Given the description of an element on the screen output the (x, y) to click on. 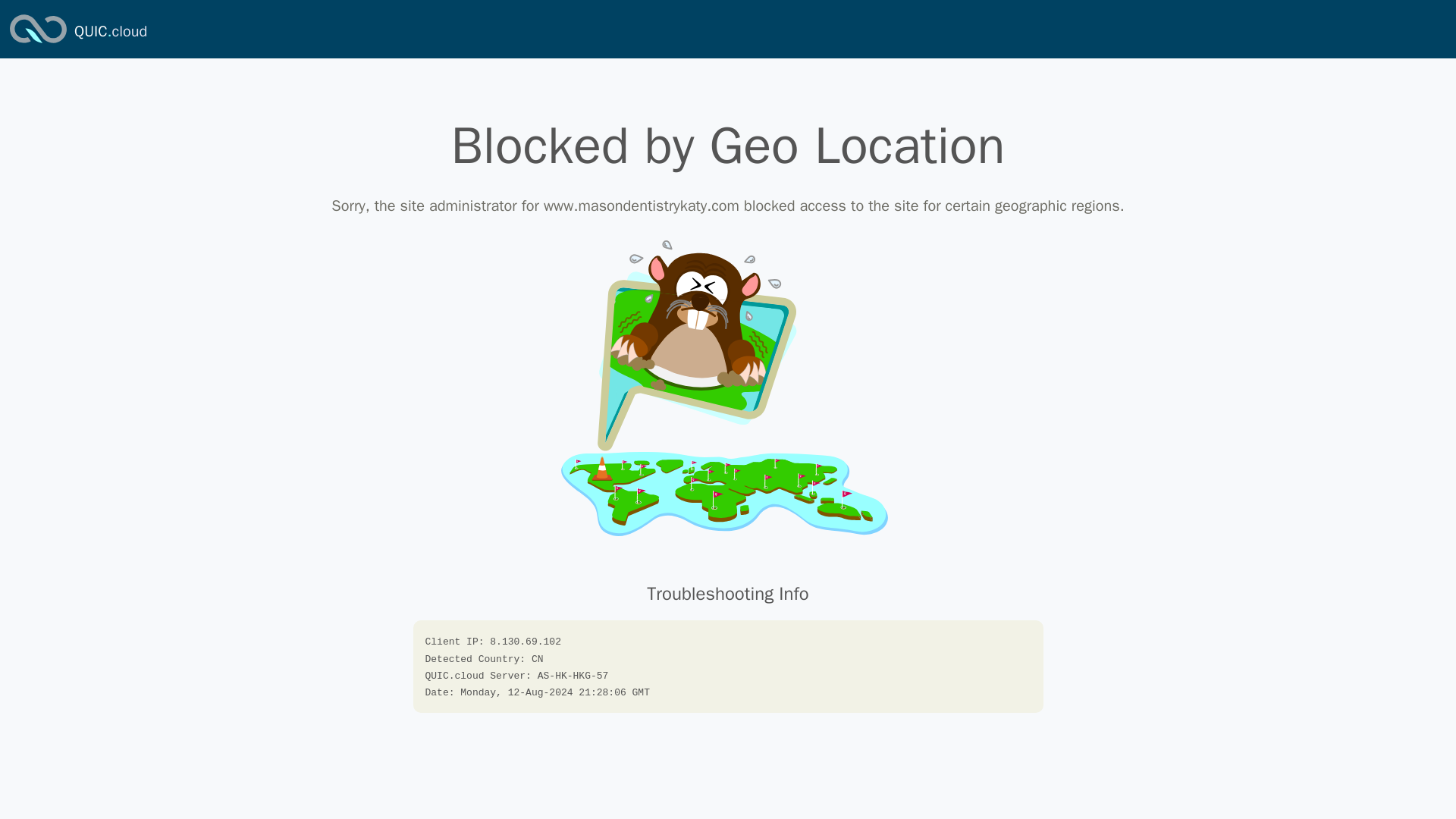
QUIC.cloud (110, 31)
QUIC.cloud (110, 31)
QUIC.cloud (37, 43)
